Given the description of an element on the screen output the (x, y) to click on. 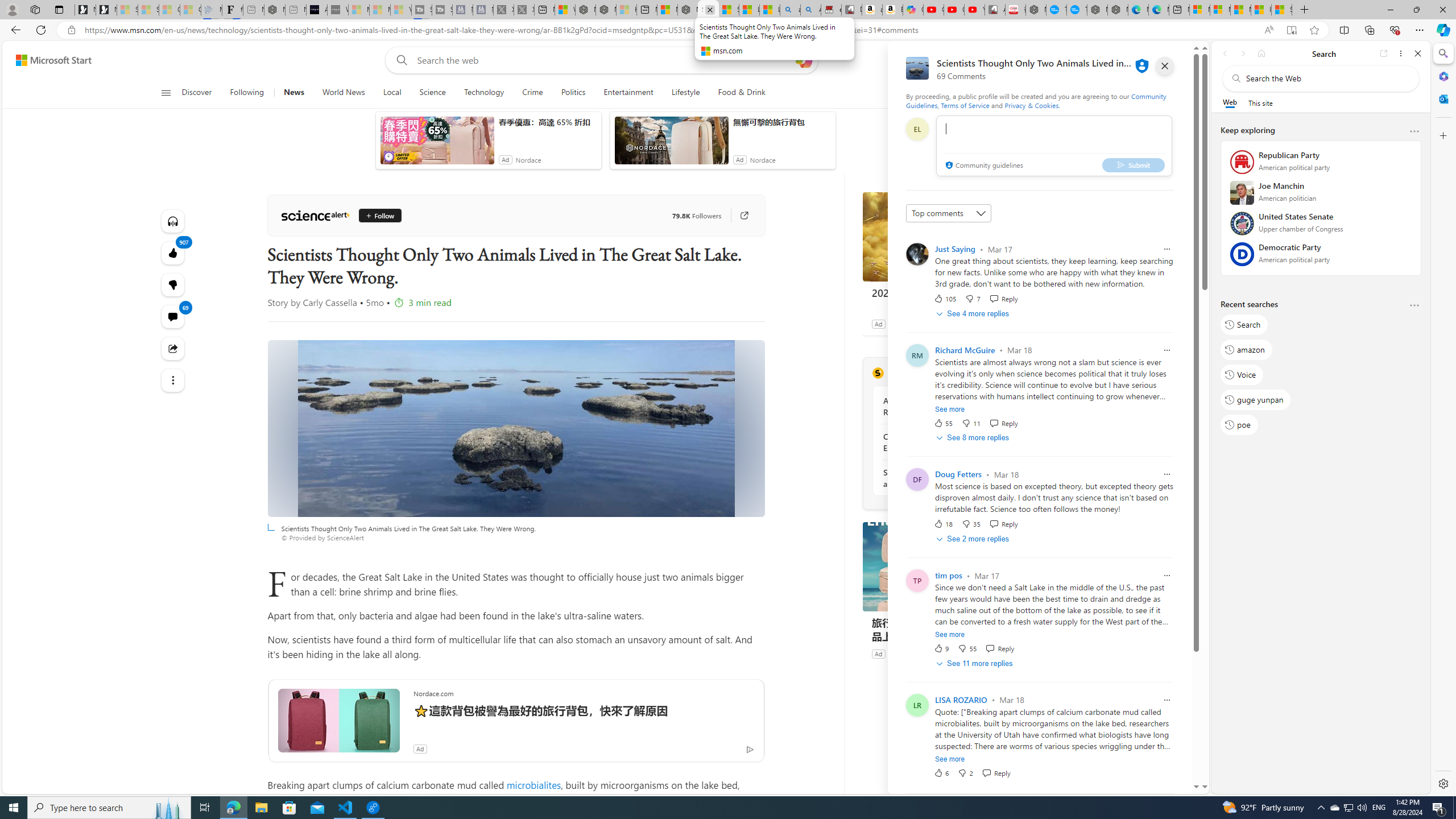
Search (1442, 53)
Open Copilot (803, 59)
amazon.in/dp/B0CX59H5W7/?tag=gsmcom05-21 (871, 9)
Personal Profile (12, 9)
Joe Manchin American politician (1321, 195)
Technology (483, 92)
Enter Immersive Reader (F9) (1291, 29)
Open settings (1175, 60)
amazon - Search (789, 9)
Forge of Empires (913, 323)
